Given the description of an element on the screen output the (x, y) to click on. 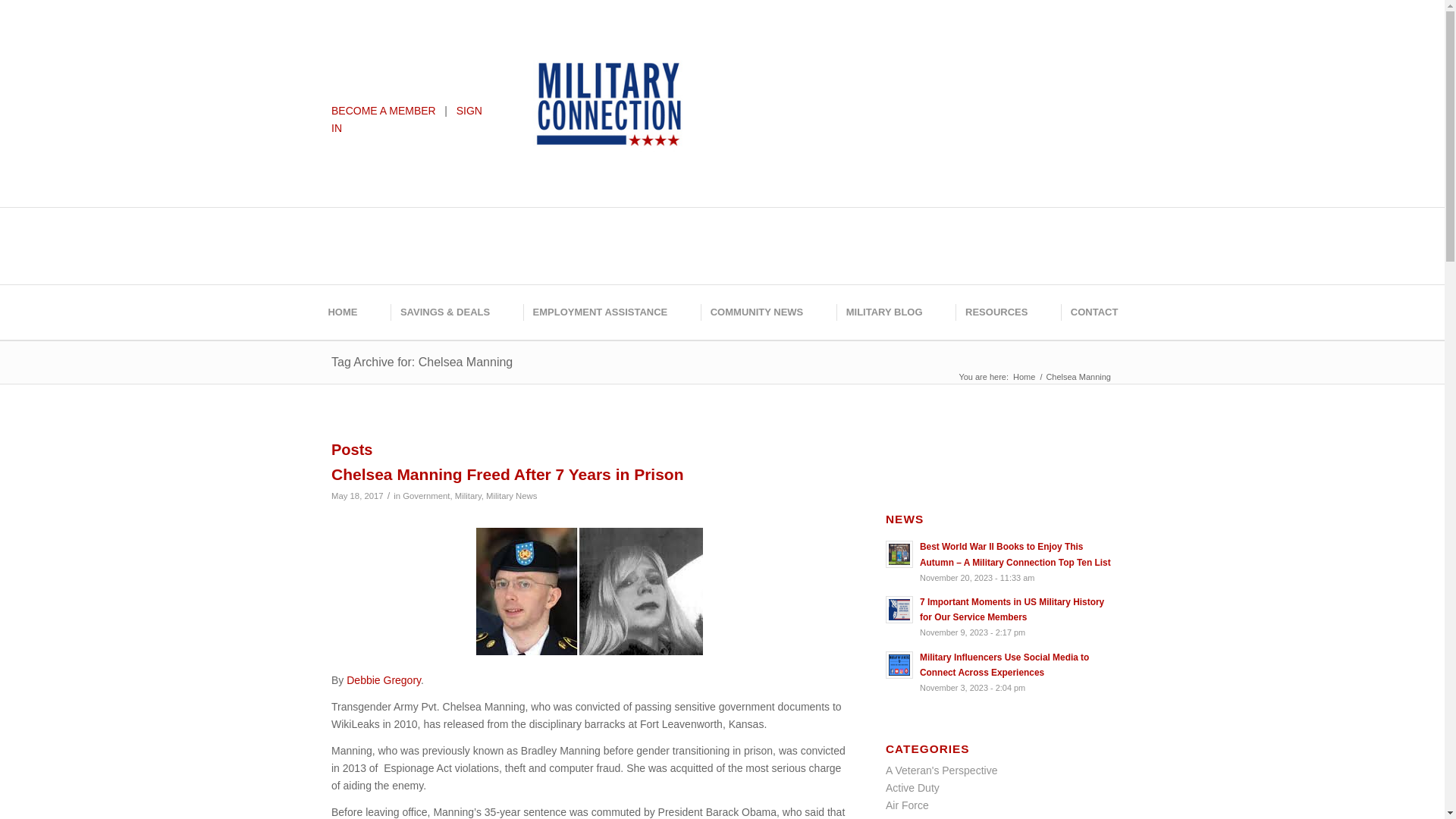
Debbie Gregory (383, 680)
CONTACT (1093, 311)
RESOURCES (995, 311)
LinkedIn (838, 48)
Pinterest (804, 48)
Military (467, 495)
BECOME A MEMBER (383, 110)
MILITARY BLOG (882, 311)
EMPLOYMENT ASSISTANCE (598, 311)
Military News (511, 495)
Twitter (771, 48)
Facebook (737, 48)
Tag Archive for: Chelsea Manning (421, 361)
